Given the description of an element on the screen output the (x, y) to click on. 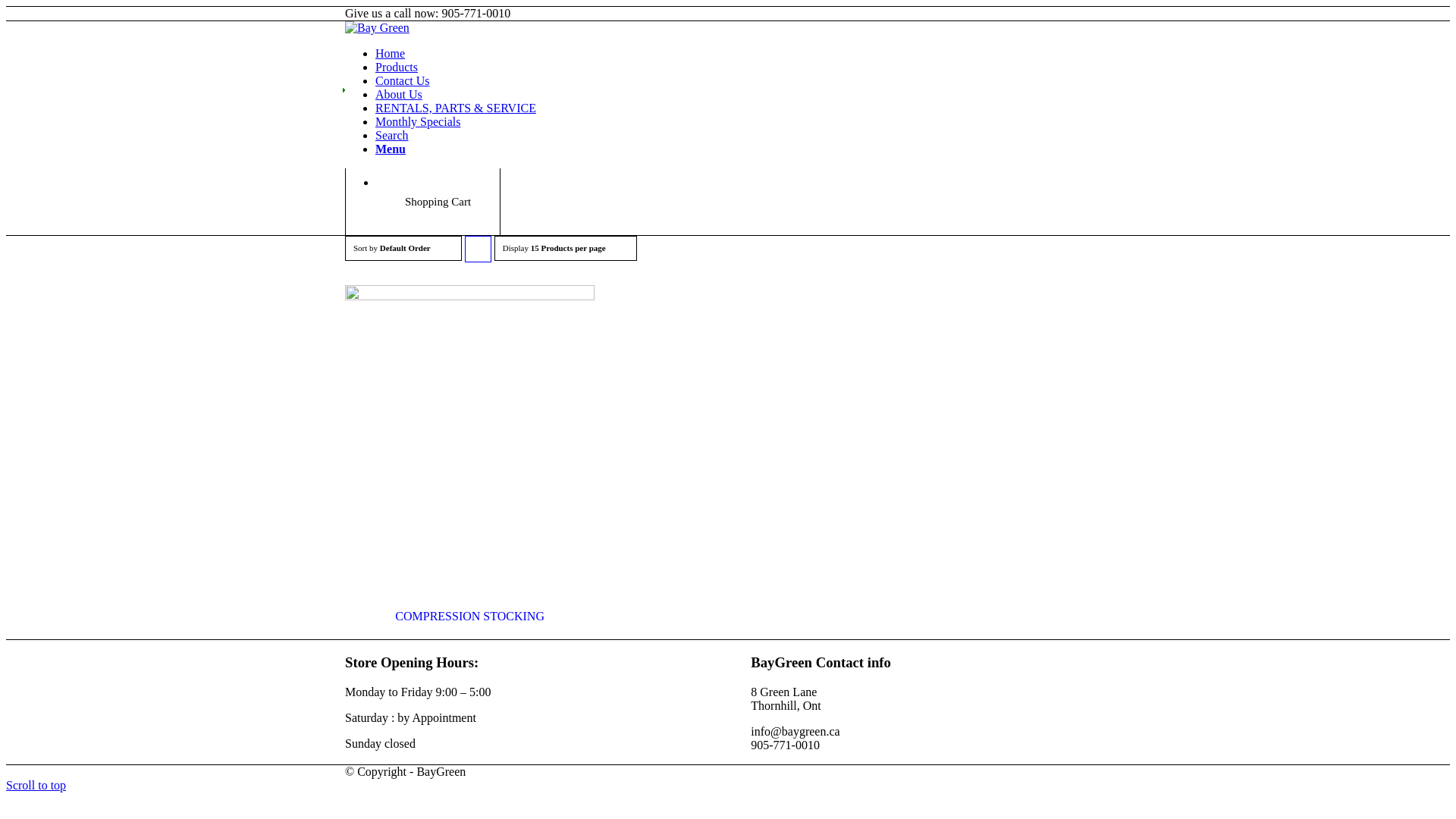
Products Element type: text (396, 66)
RENTALS, PARTS & SERVICE Element type: text (455, 107)
Scroll to top Element type: text (35, 784)
COMPRESSION STOCKING Element type: text (469, 458)
Click to order products ascending Element type: text (477, 248)
Monthly Specials Element type: text (417, 121)
Menu Element type: text (390, 148)
Search Element type: text (391, 134)
Contact Us Element type: text (402, 80)
Shopping Cart Element type: text (437, 201)
Home Element type: text (389, 53)
About Us Element type: text (398, 93)
